Given the description of an element on the screen output the (x, y) to click on. 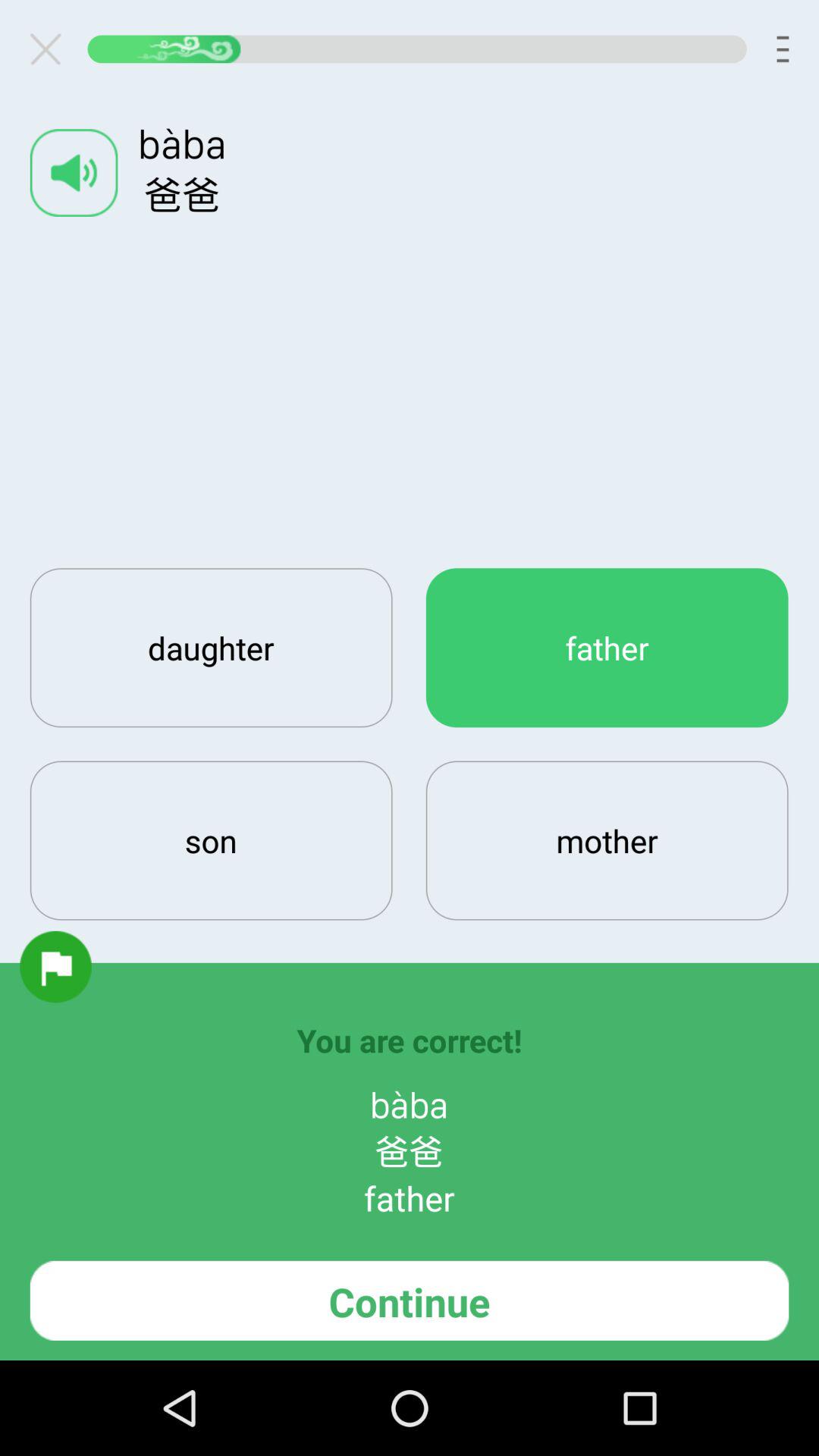
to close the page (51, 49)
